Given the description of an element on the screen output the (x, y) to click on. 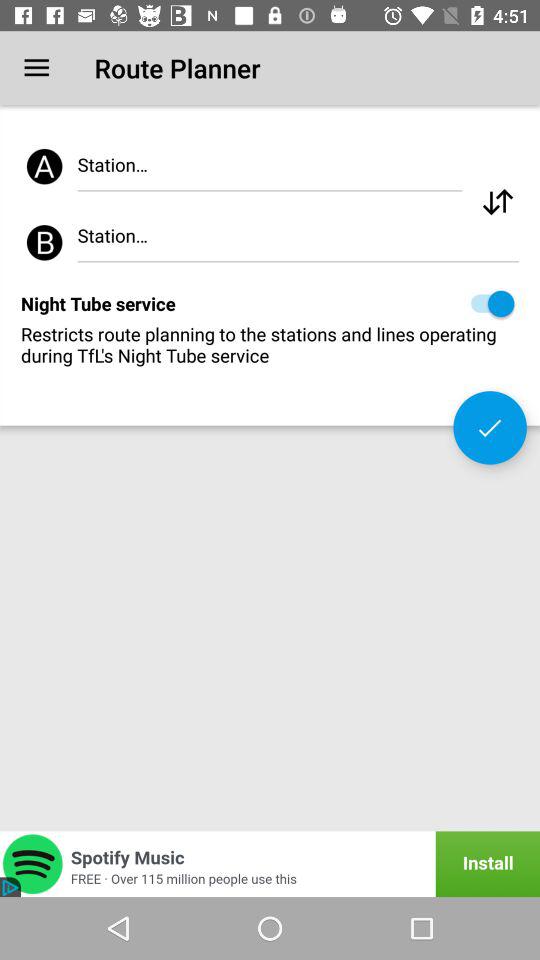
change the radio station (498, 202)
